Given the description of an element on the screen output the (x, y) to click on. 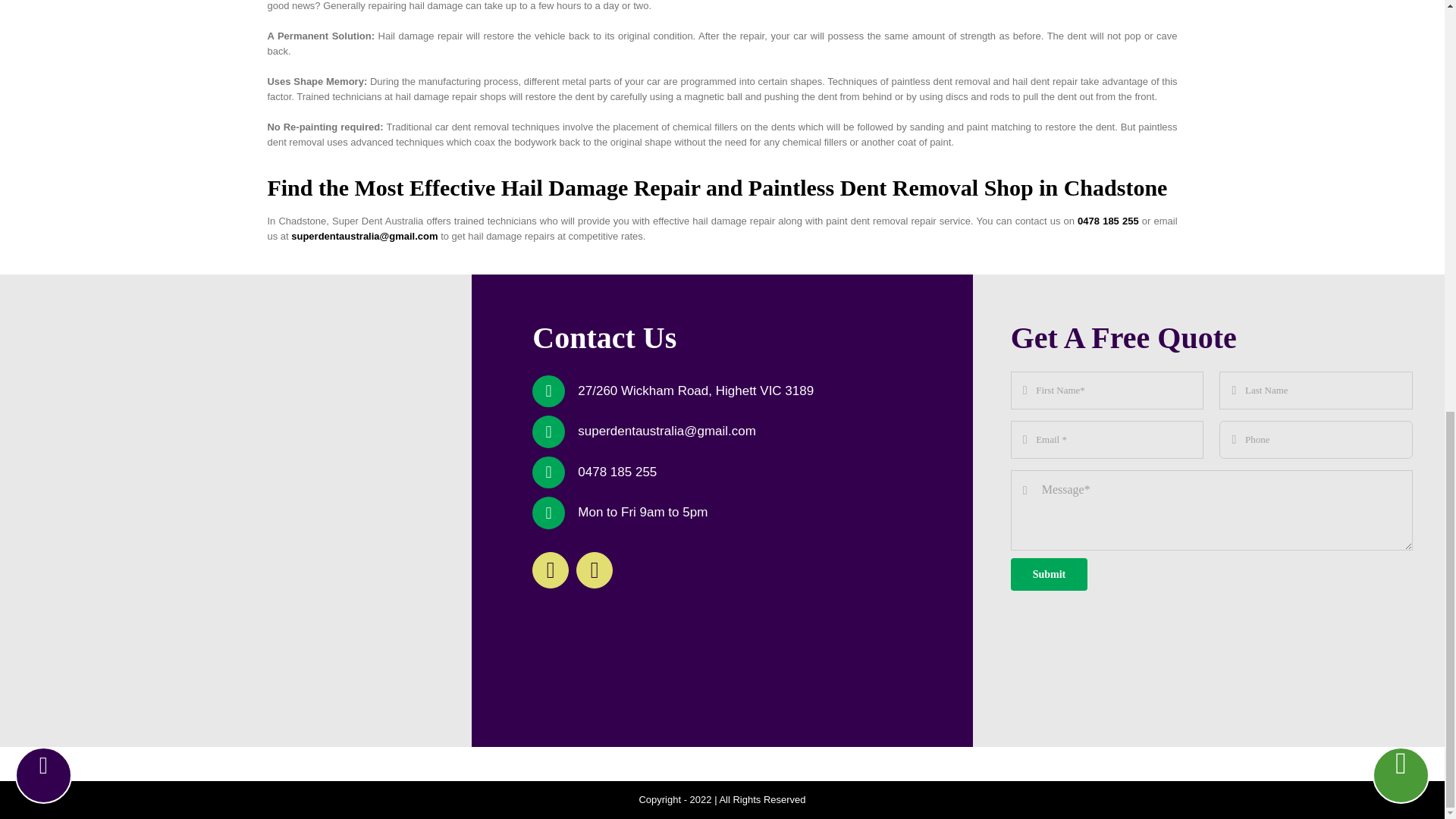
Submit (1211, 480)
Only numbers and phone characters are accepted. (1316, 439)
Instagram (594, 570)
Facebook (550, 570)
